Given the description of an element on the screen output the (x, y) to click on. 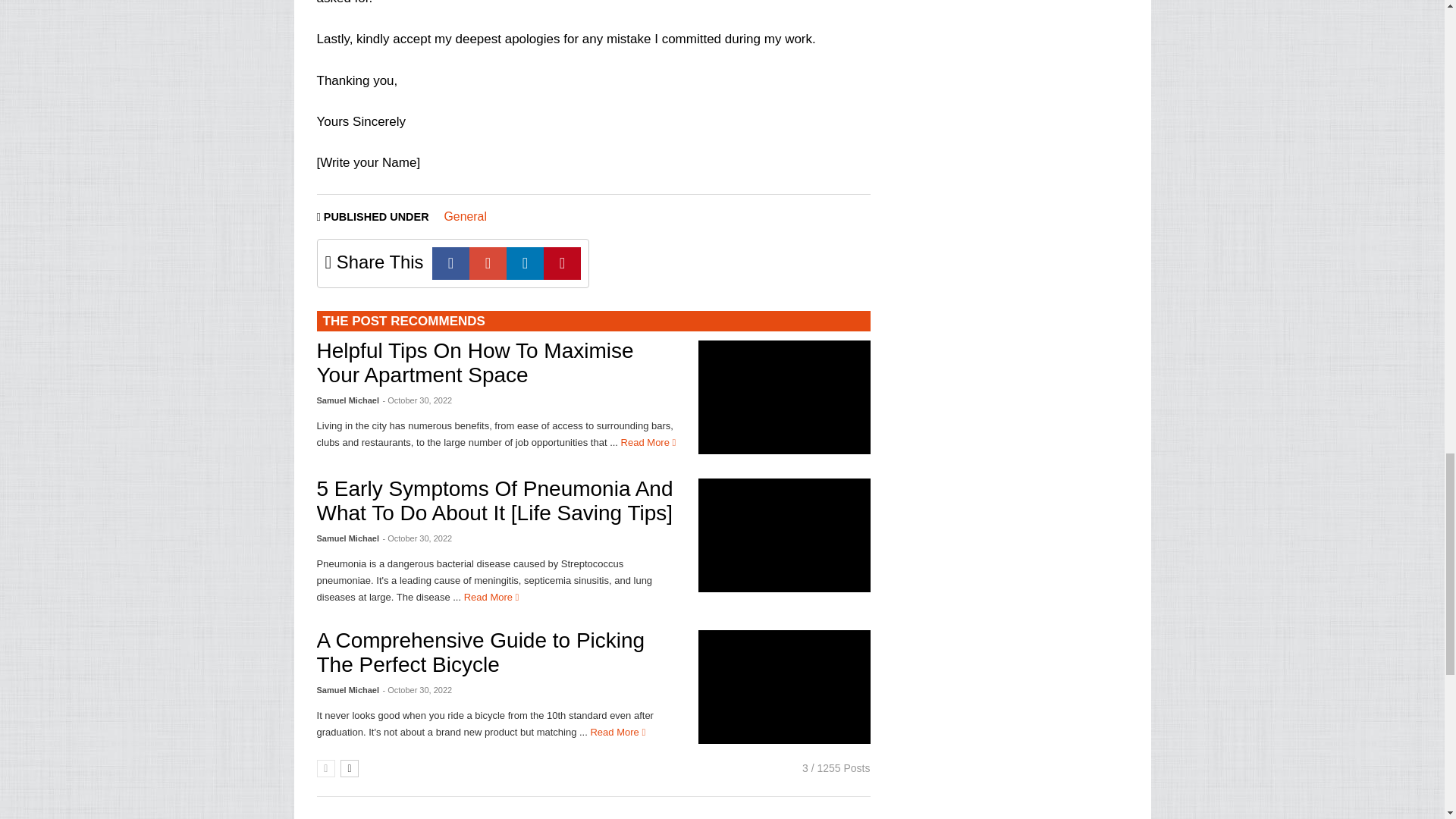
Helpful Tips On How To Maximise Your Apartment Space (649, 441)
Pinterest (561, 263)
Helpful Tips On How To Maximise Your Apartment Space (475, 362)
A Comprehensive Guide to Picking The Perfect Bicycle (783, 686)
Facebook (450, 263)
A Comprehensive Guide to Picking The Perfect Bicycle (481, 652)
Helpful Tips On How To Maximise Your Apartment Space (783, 397)
Linkedin (524, 263)
E-mail (487, 263)
